Given the description of an element on the screen output the (x, y) to click on. 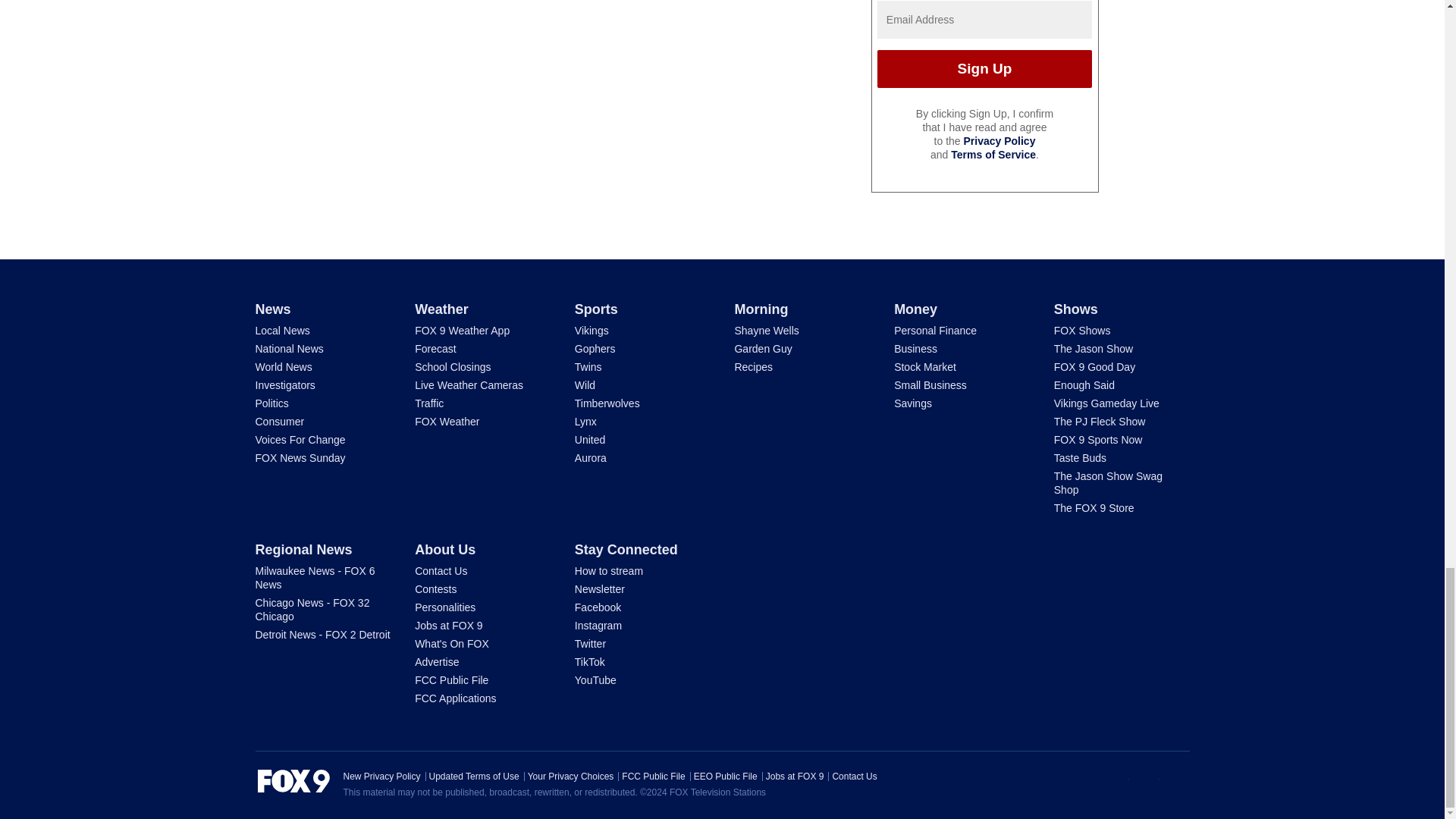
Sign Up (984, 68)
